Given the description of an element on the screen output the (x, y) to click on. 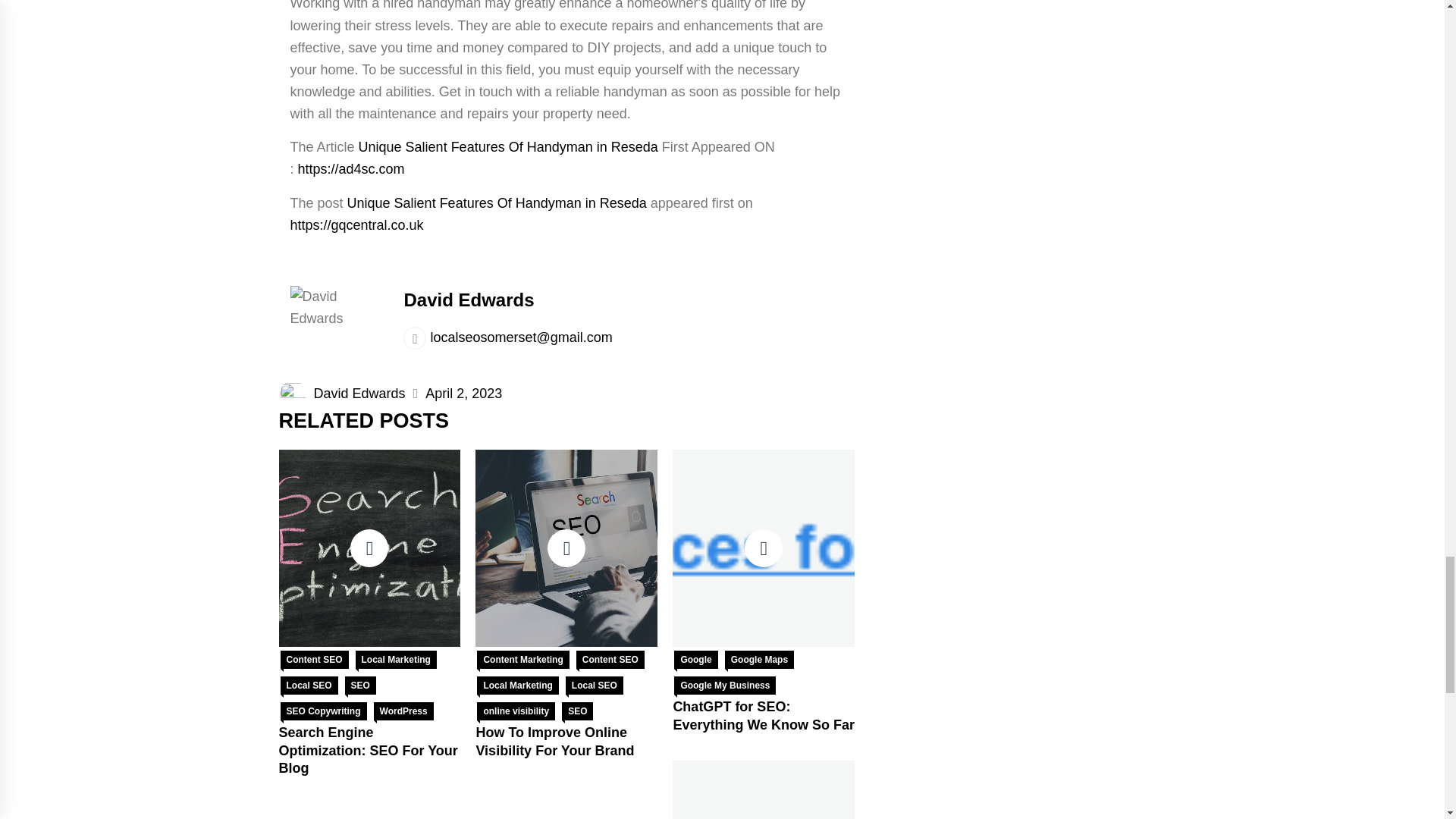
Content SEO (315, 659)
David Edwards (360, 393)
Unique Salient Features Of Handyman in Reseda (496, 202)
Local SEO (309, 685)
Local Marketing (395, 659)
April 2, 2023 (463, 393)
SEO (360, 685)
WordPress (403, 710)
SEO Copywriting (323, 710)
Unique Salient Features Of Handyman in Reseda (508, 146)
David Edwards (468, 299)
